Given the description of an element on the screen output the (x, y) to click on. 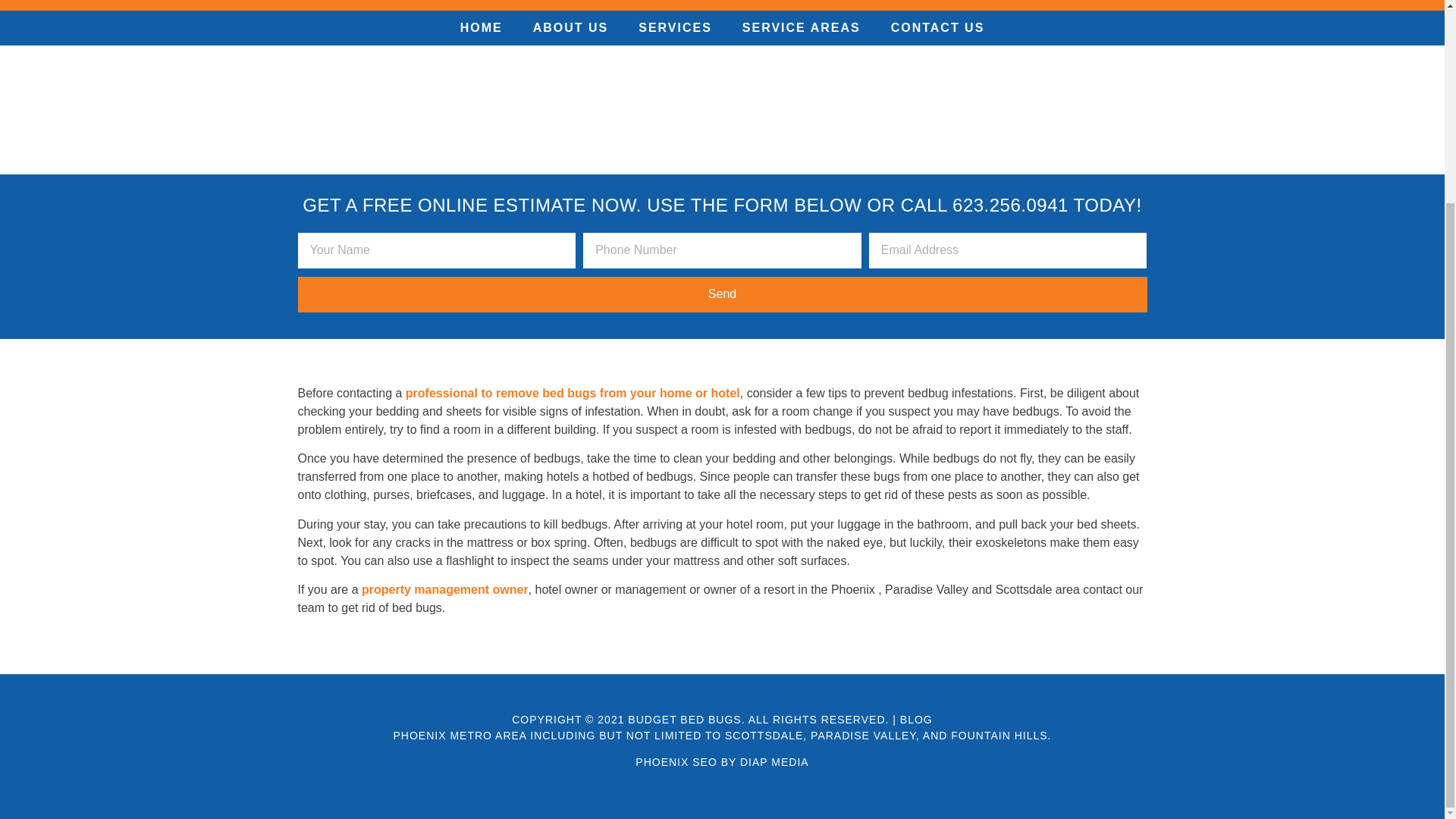
property management owner (444, 589)
HOME (481, 27)
SERVICES (674, 27)
professional to remove bed bugs from your home or hotel (572, 392)
Send (722, 294)
BLOG (916, 719)
PHOENIX SEO BY DIAP MEDIA (721, 761)
ABOUT US (571, 27)
SERVICE AREAS (801, 27)
CONTACT US (938, 27)
